Given the description of an element on the screen output the (x, y) to click on. 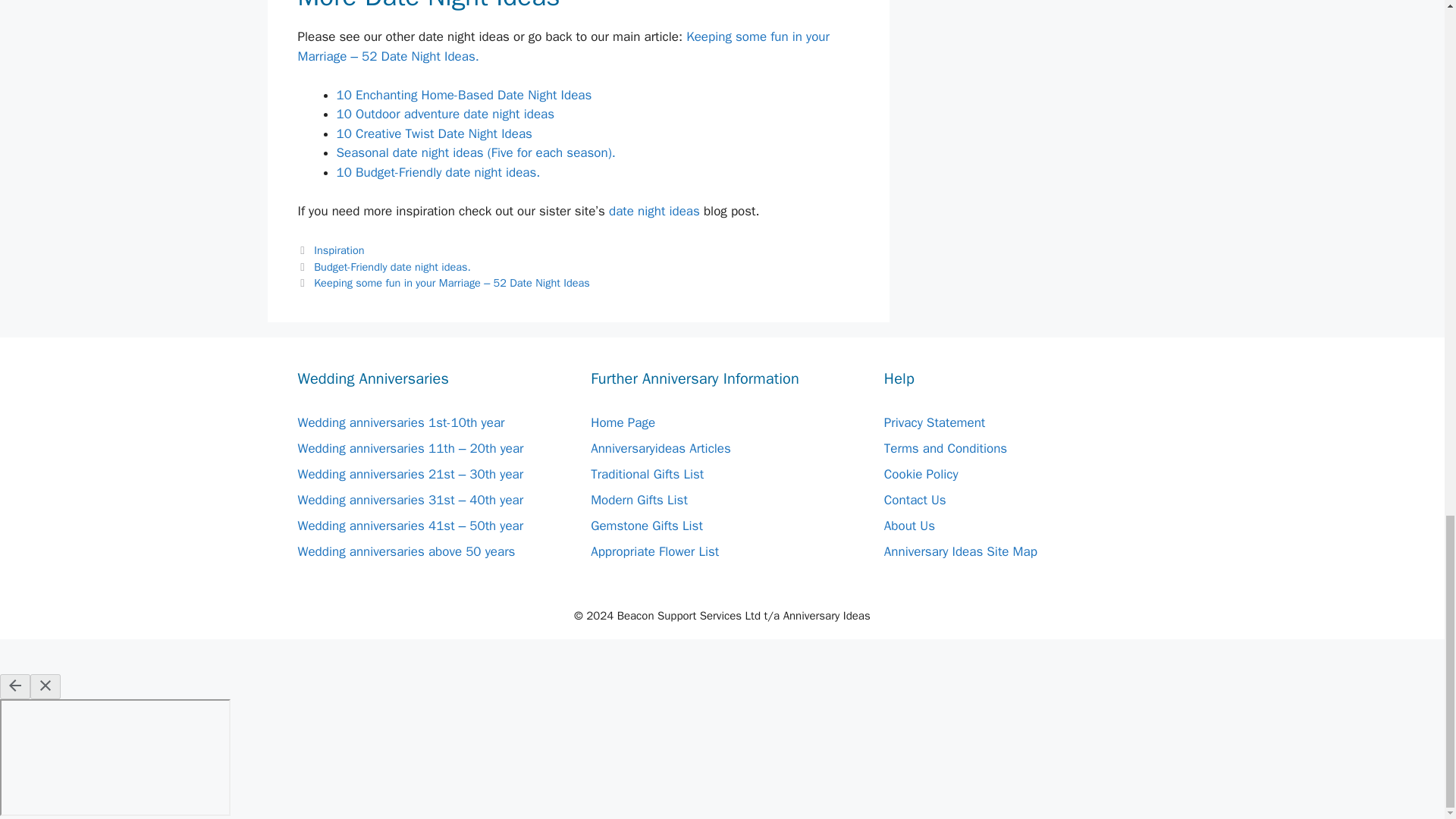
Scroll back to top (1428, 124)
